Given the description of an element on the screen output the (x, y) to click on. 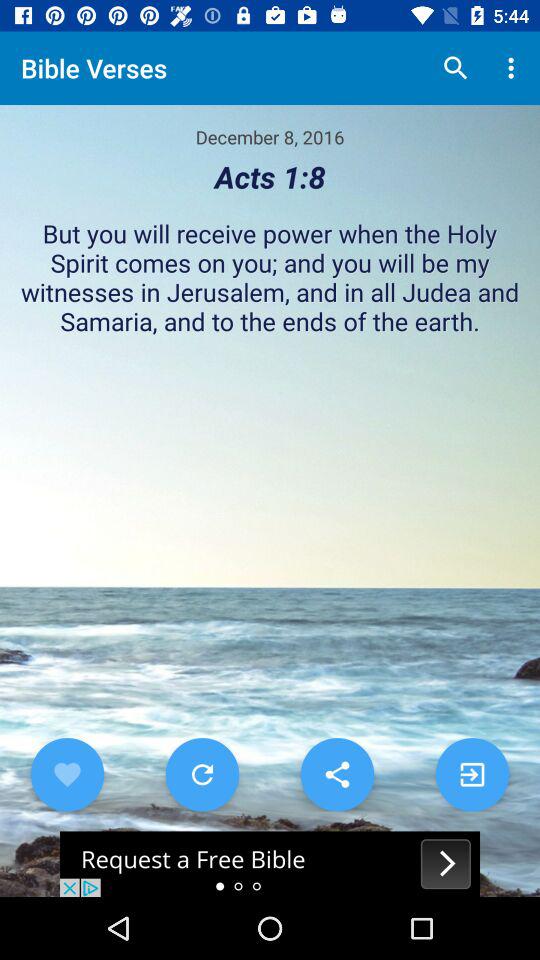
load the next page (472, 774)
